Given the description of an element on the screen output the (x, y) to click on. 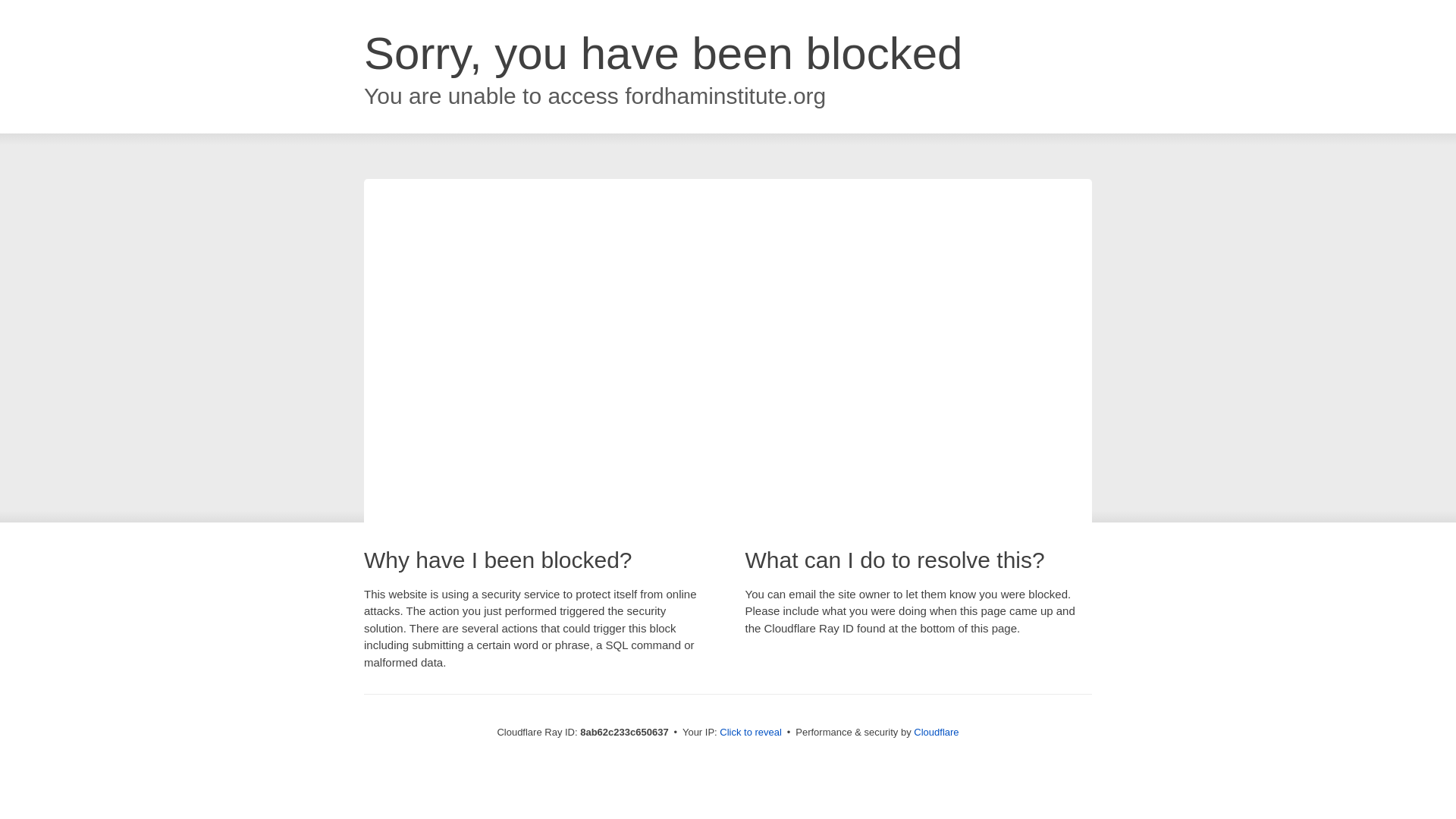
Cloudflare (936, 731)
Click to reveal (750, 732)
